Given the description of an element on the screen output the (x, y) to click on. 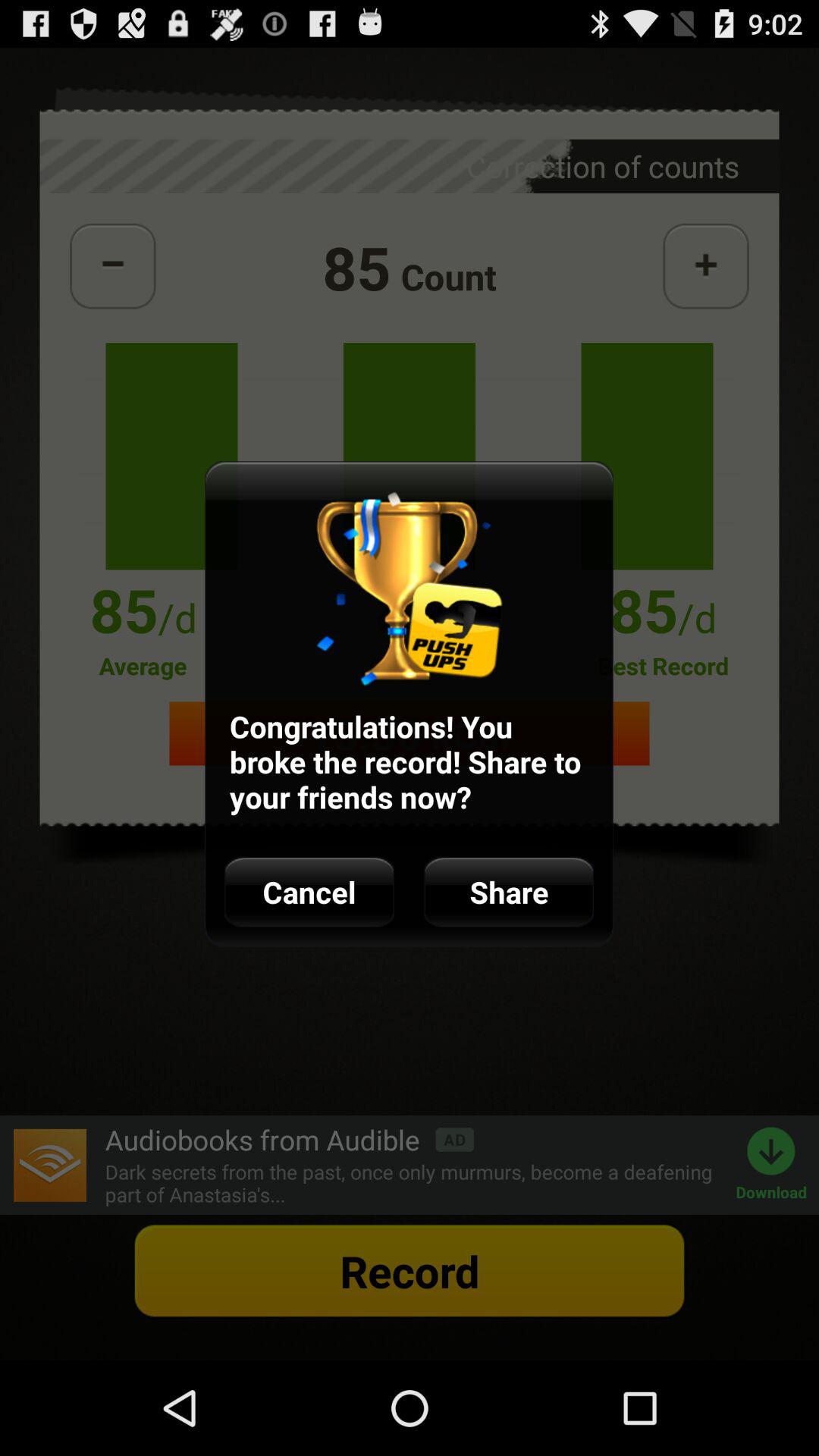
launch the item next to share icon (309, 892)
